Given the description of an element on the screen output the (x, y) to click on. 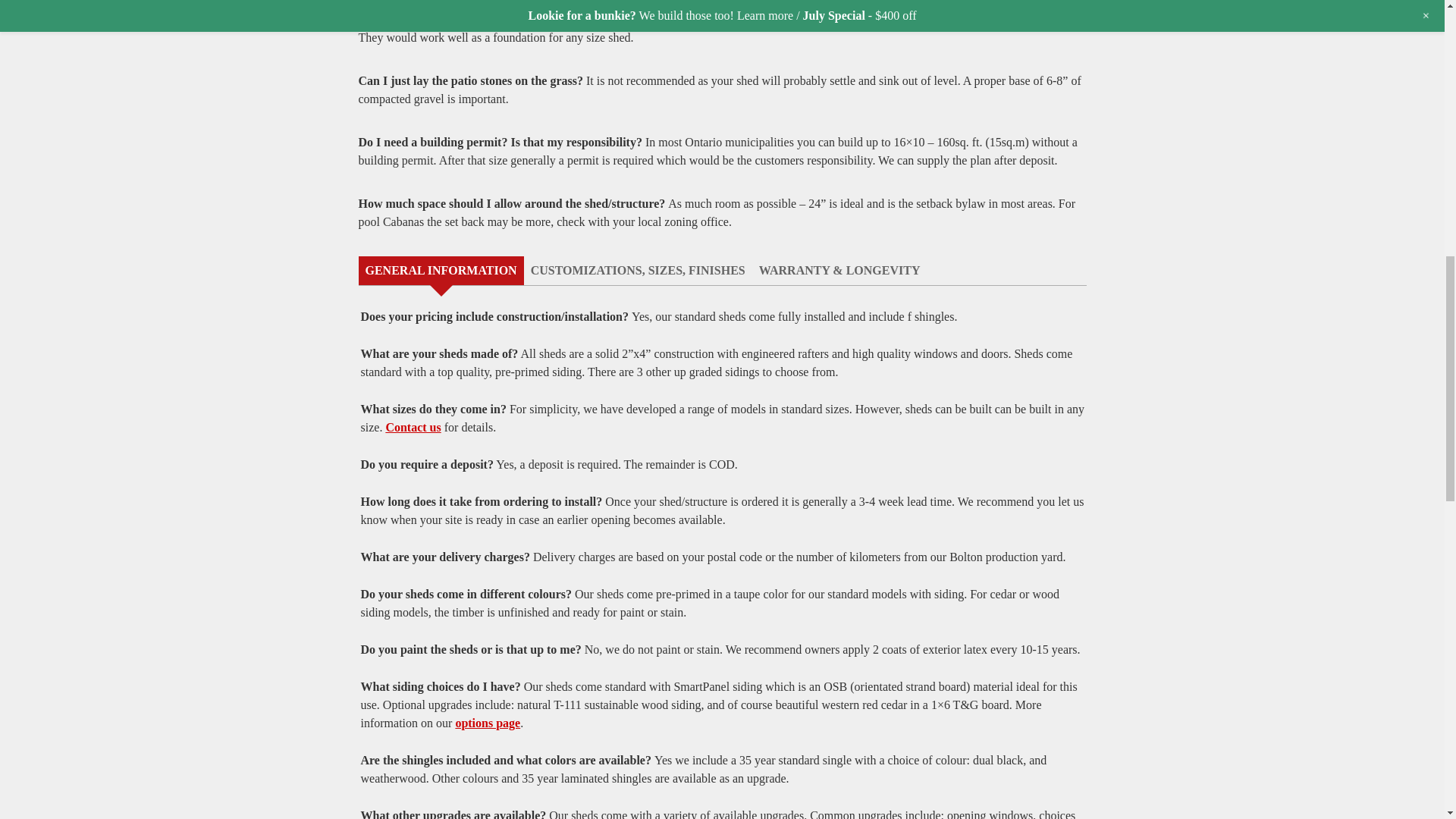
CUSTOMIZATIONS, SIZES, FINISHES (638, 270)
GENERAL INFORMATION (440, 270)
Contact us (413, 427)
